Given the description of an element on the screen output the (x, y) to click on. 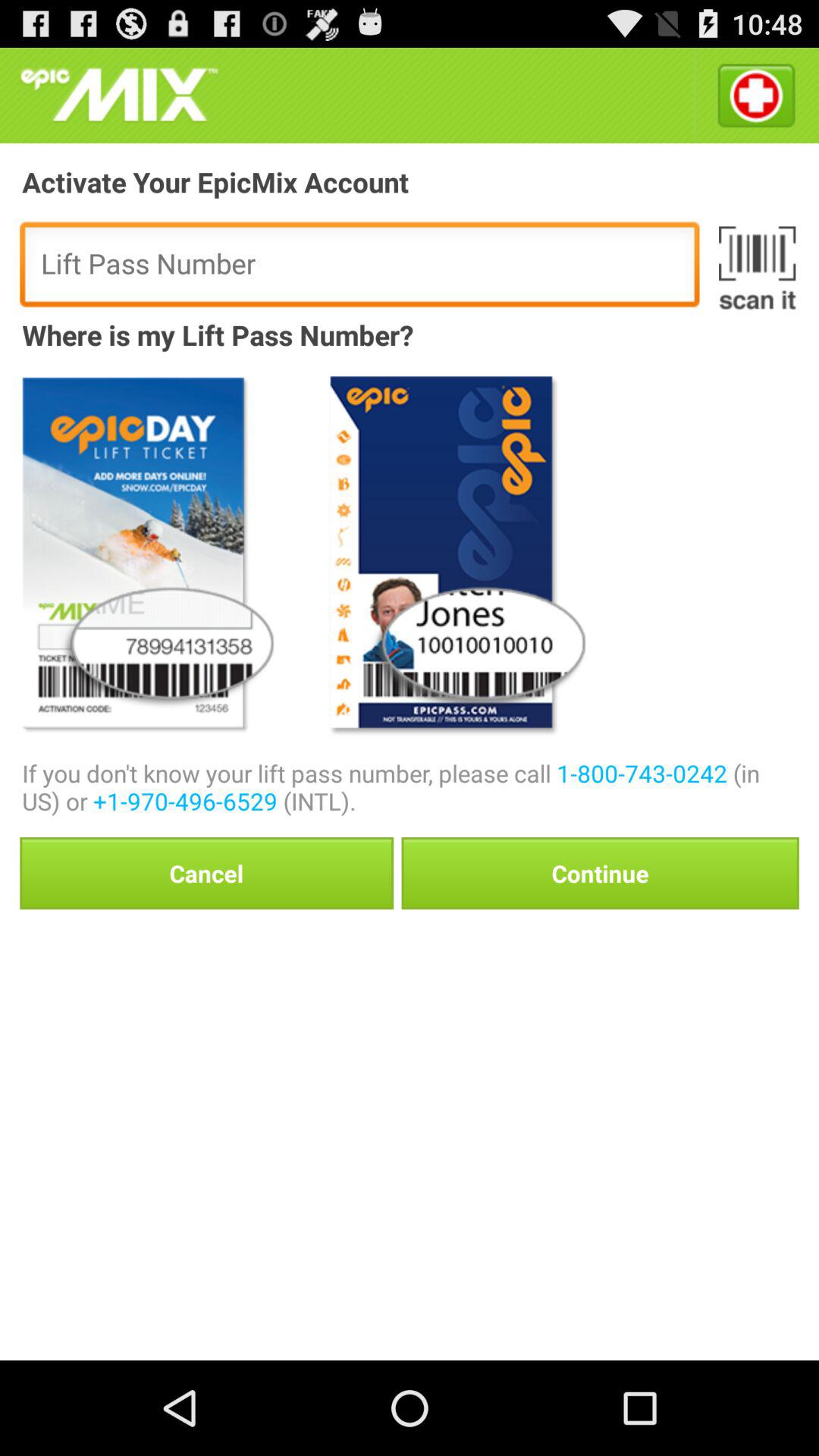
click the button to the right of cancel (600, 873)
